Given the description of an element on the screen output the (x, y) to click on. 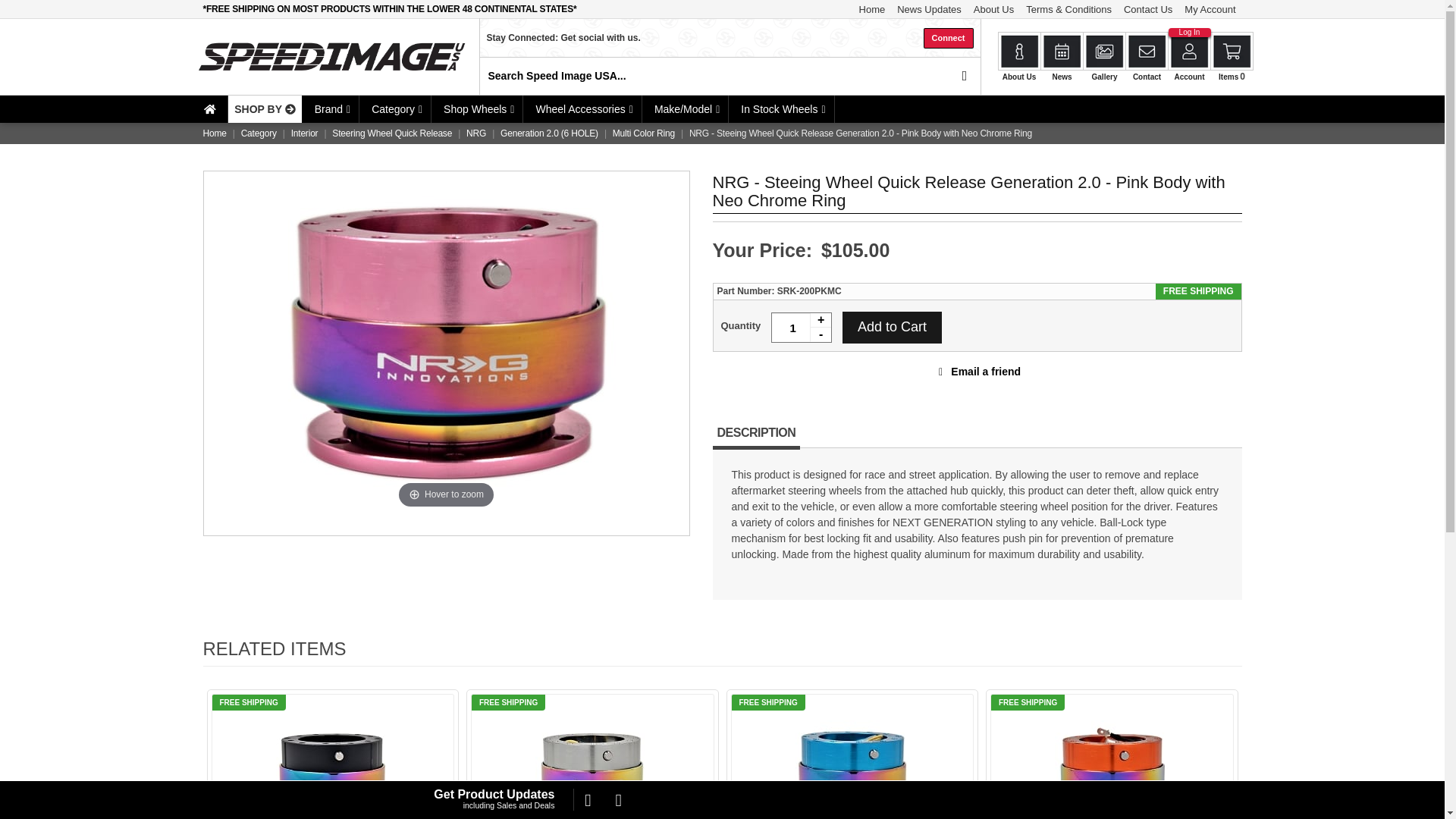
Brand (330, 108)
Contact Us (1147, 9)
1 (801, 327)
Home (872, 9)
Free Shipping (390, 9)
Like Us on Facebook (587, 799)
About Us (994, 9)
News Updates (929, 9)
My Account (1209, 9)
home (209, 108)
Have Questions? We are here to help. (730, 11)
